Given the description of an element on the screen output the (x, y) to click on. 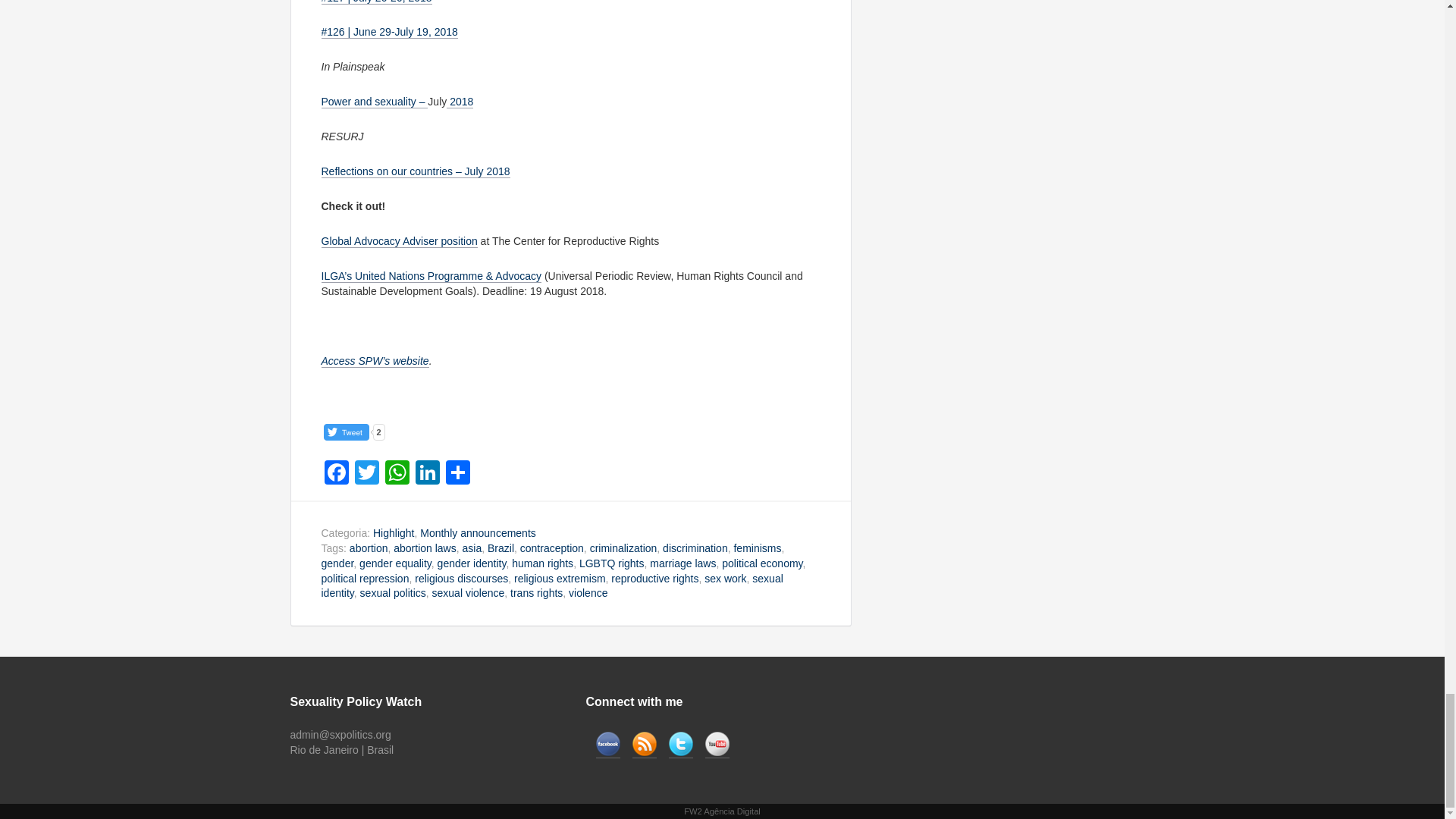
WhatsApp (396, 474)
LinkedIn (427, 474)
Facebook (336, 474)
Link to my Rss Page (643, 745)
Link to my Twitter Page (680, 745)
Link to my Youtube Page (716, 745)
Twitter (366, 474)
Link to my Facebook Page (607, 745)
